Given the description of an element on the screen output the (x, y) to click on. 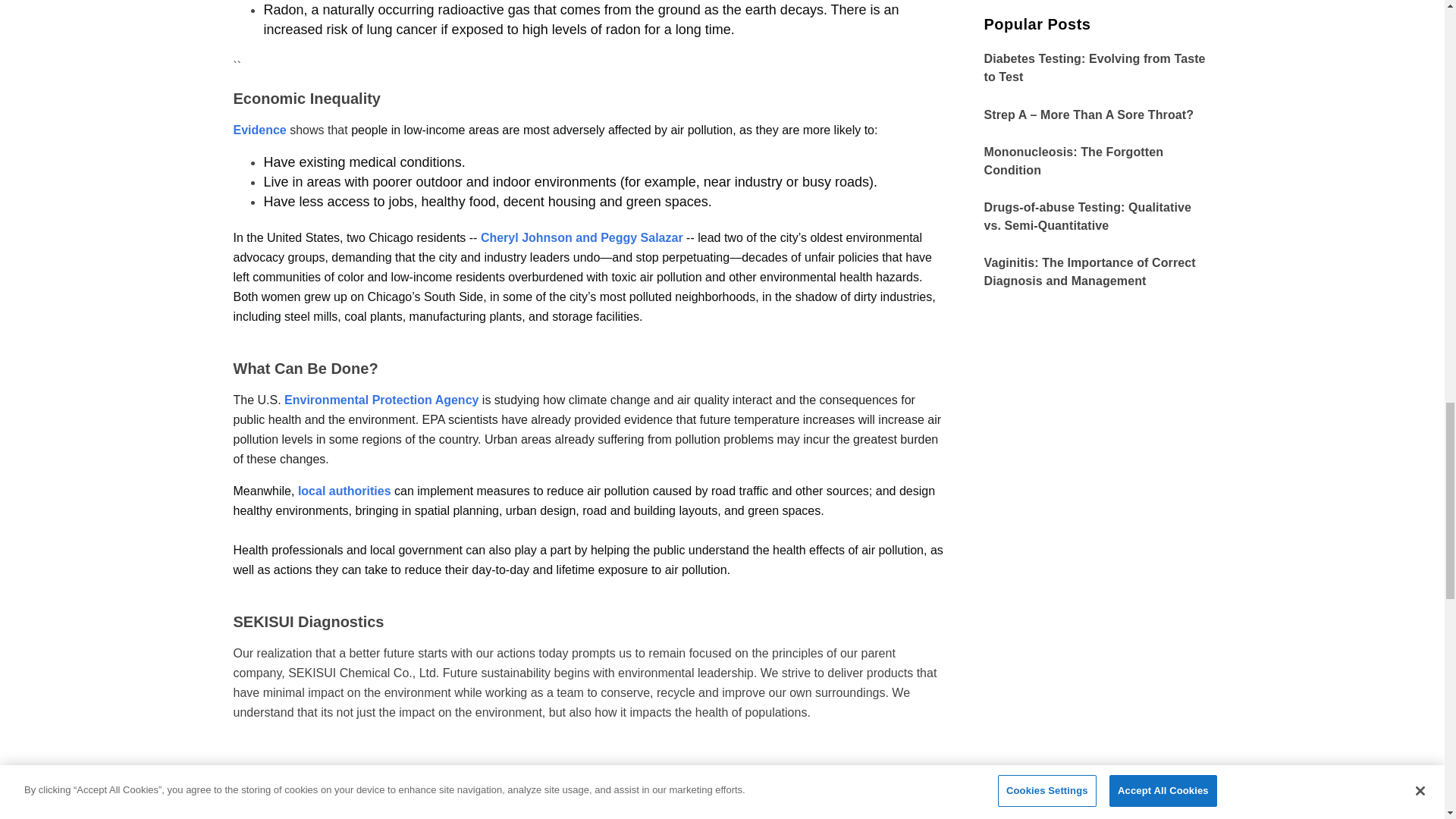
Environmental Protection Agency (381, 399)
local authorities (344, 490)
Evidence (259, 129)
Cheryl Johnson and Peggy Salazar (581, 237)
